Given the description of an element on the screen output the (x, y) to click on. 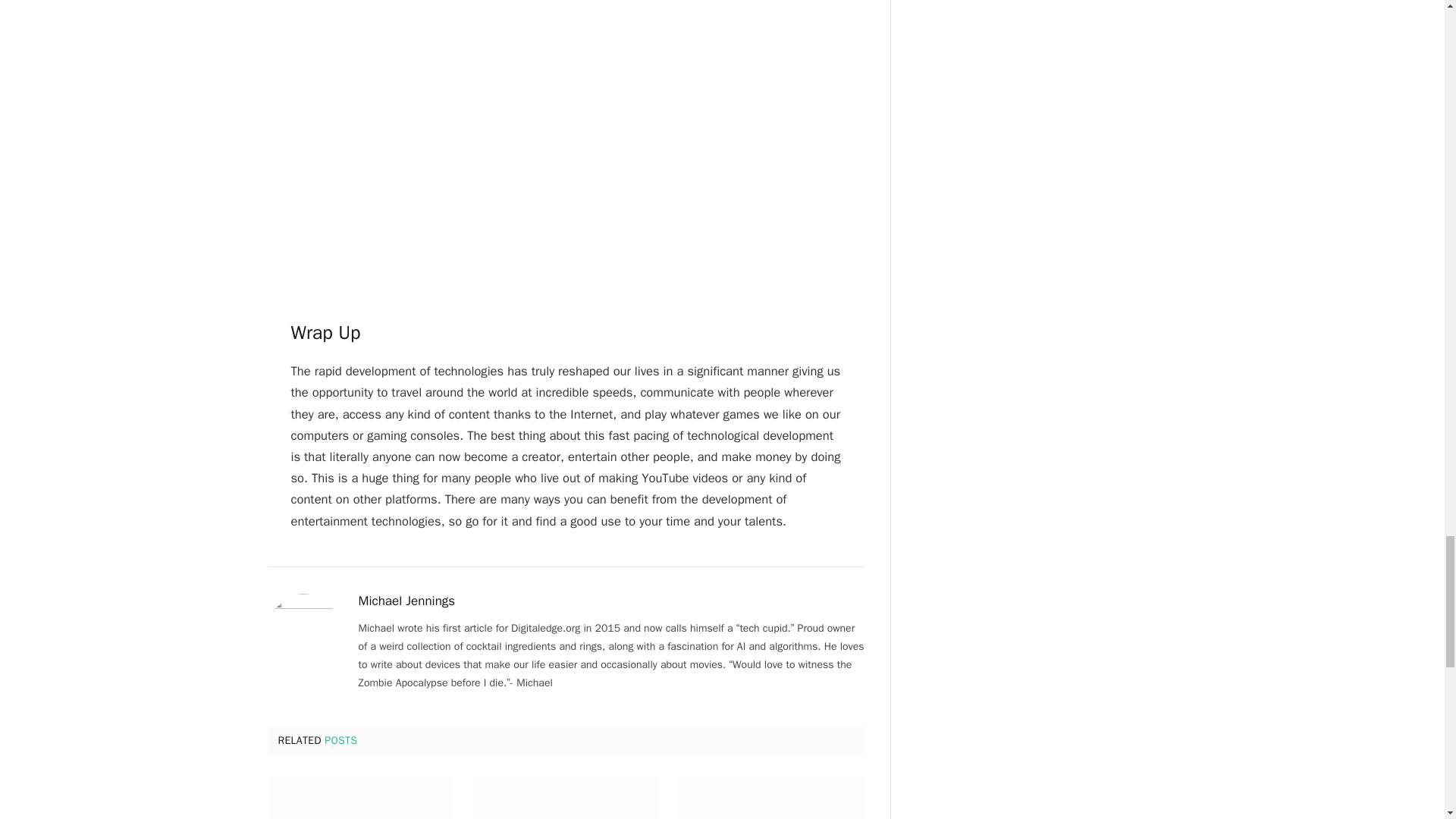
Posts by Michael Jennings (406, 601)
